Given the description of an element on the screen output the (x, y) to click on. 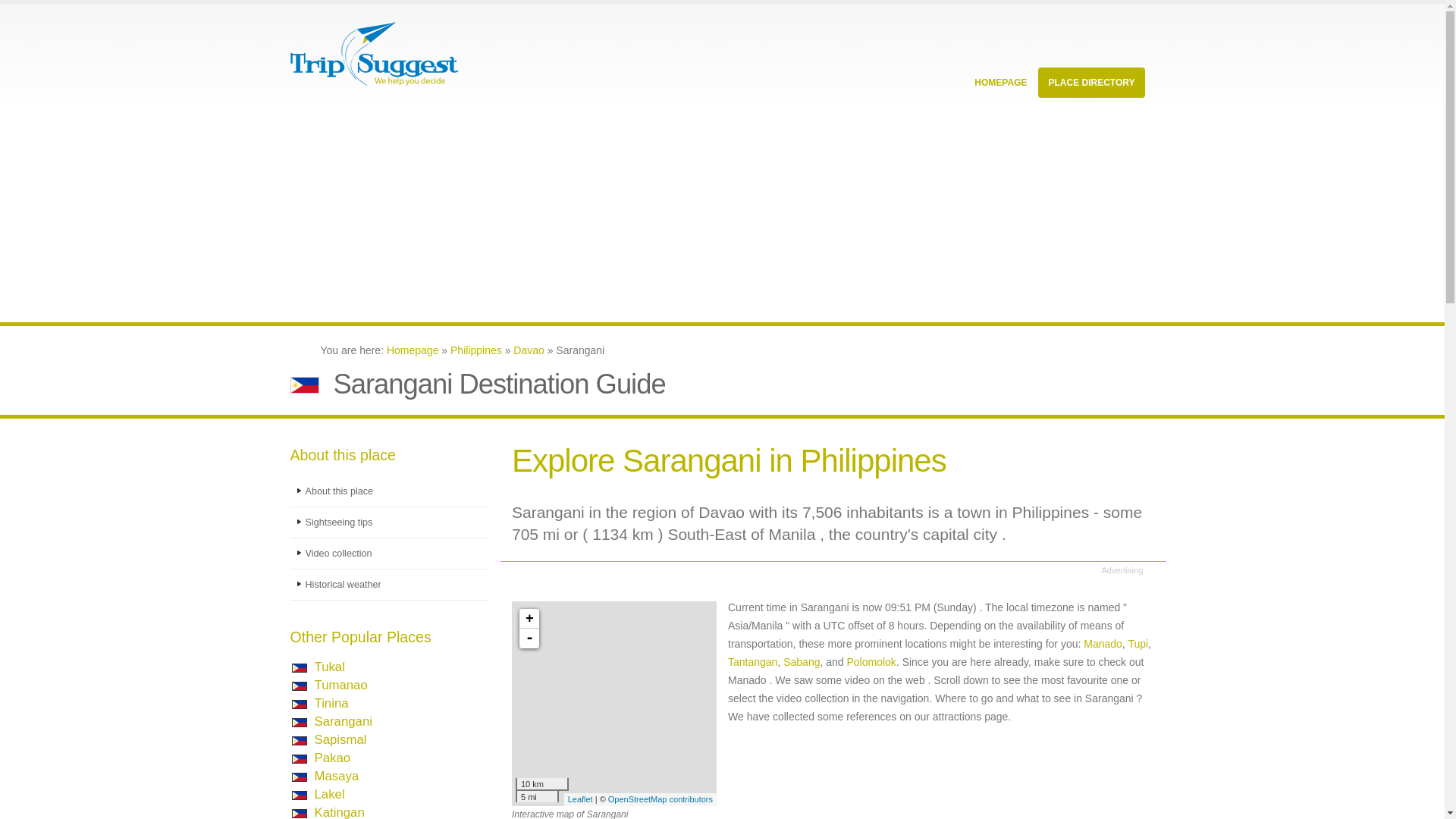
Sightseeing tips (389, 522)
Historical weather (389, 584)
Tinina (330, 703)
About this place (389, 490)
Katingan (339, 812)
Sapismal (340, 739)
Masaya (336, 775)
Sarangani (343, 721)
Pakao (332, 757)
Lakel (328, 794)
